Given the description of an element on the screen output the (x, y) to click on. 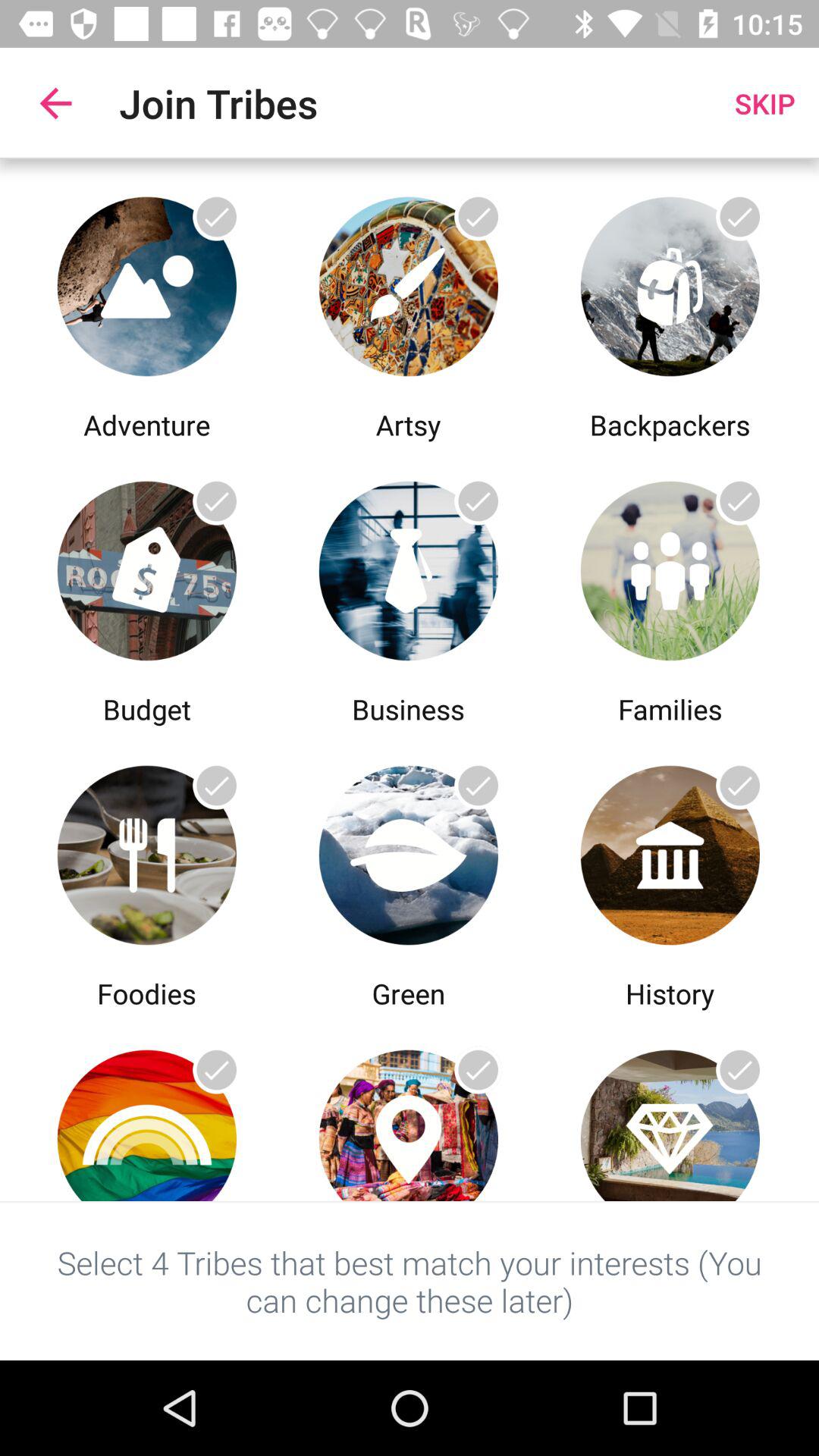
open last option from 2nd row (669, 566)
